Given the description of an element on the screen output the (x, y) to click on. 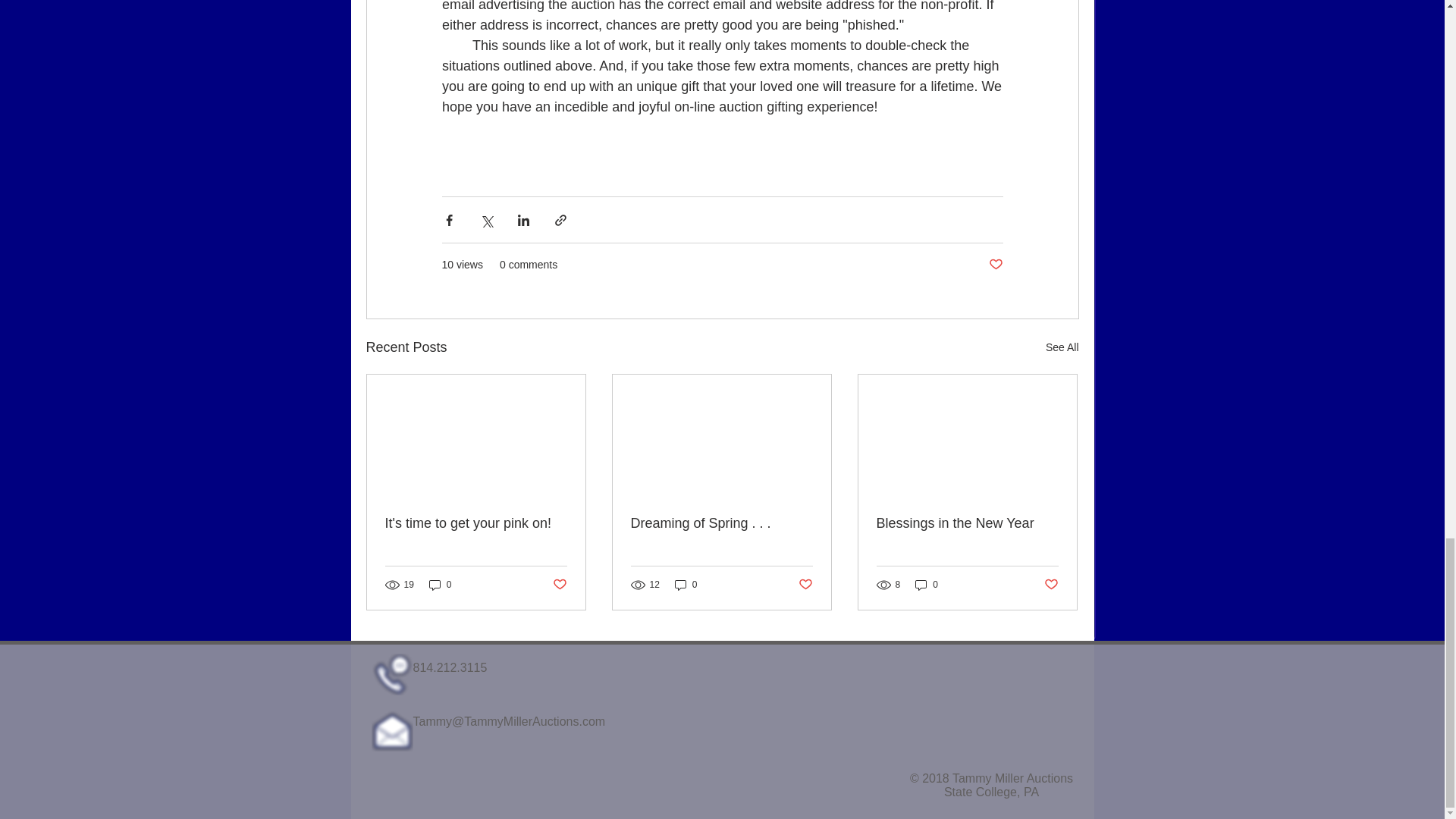
Post not marked as liked (1050, 584)
Post not marked as liked (804, 584)
0 (440, 585)
It's time to get your pink on! (476, 523)
0 (685, 585)
Post not marked as liked (558, 584)
814.212.3115 (449, 667)
Post not marked as liked (995, 264)
See All (1061, 347)
Blessings in the New Year (967, 523)
Dreaming of Spring . . . (721, 523)
0 (926, 585)
